Given the description of an element on the screen output the (x, y) to click on. 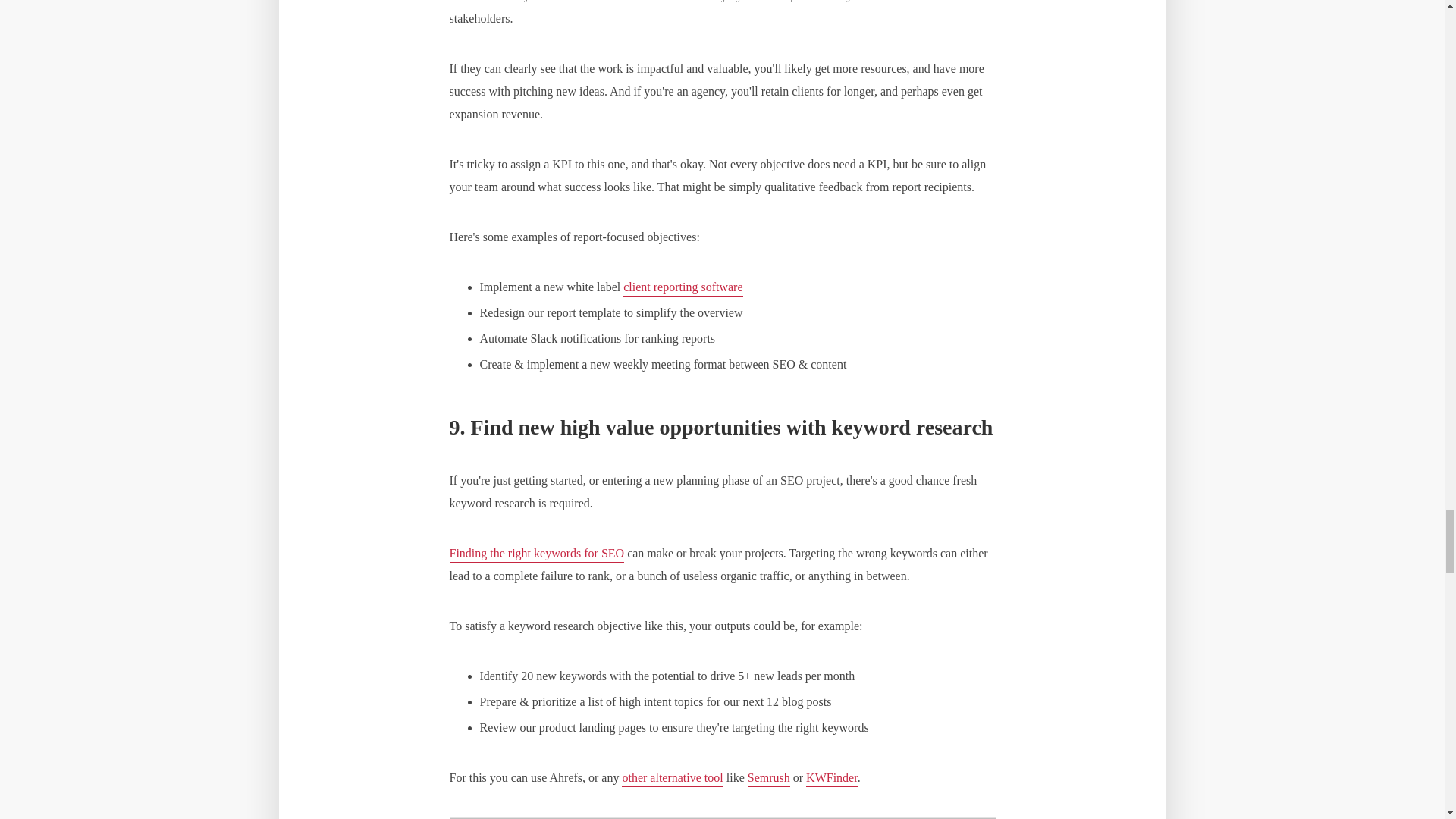
other alternative tool (671, 779)
client reporting software (682, 288)
KWFinder (831, 779)
Finding the right keywords for SEO (536, 554)
Semrush (769, 779)
